Given the description of an element on the screen output the (x, y) to click on. 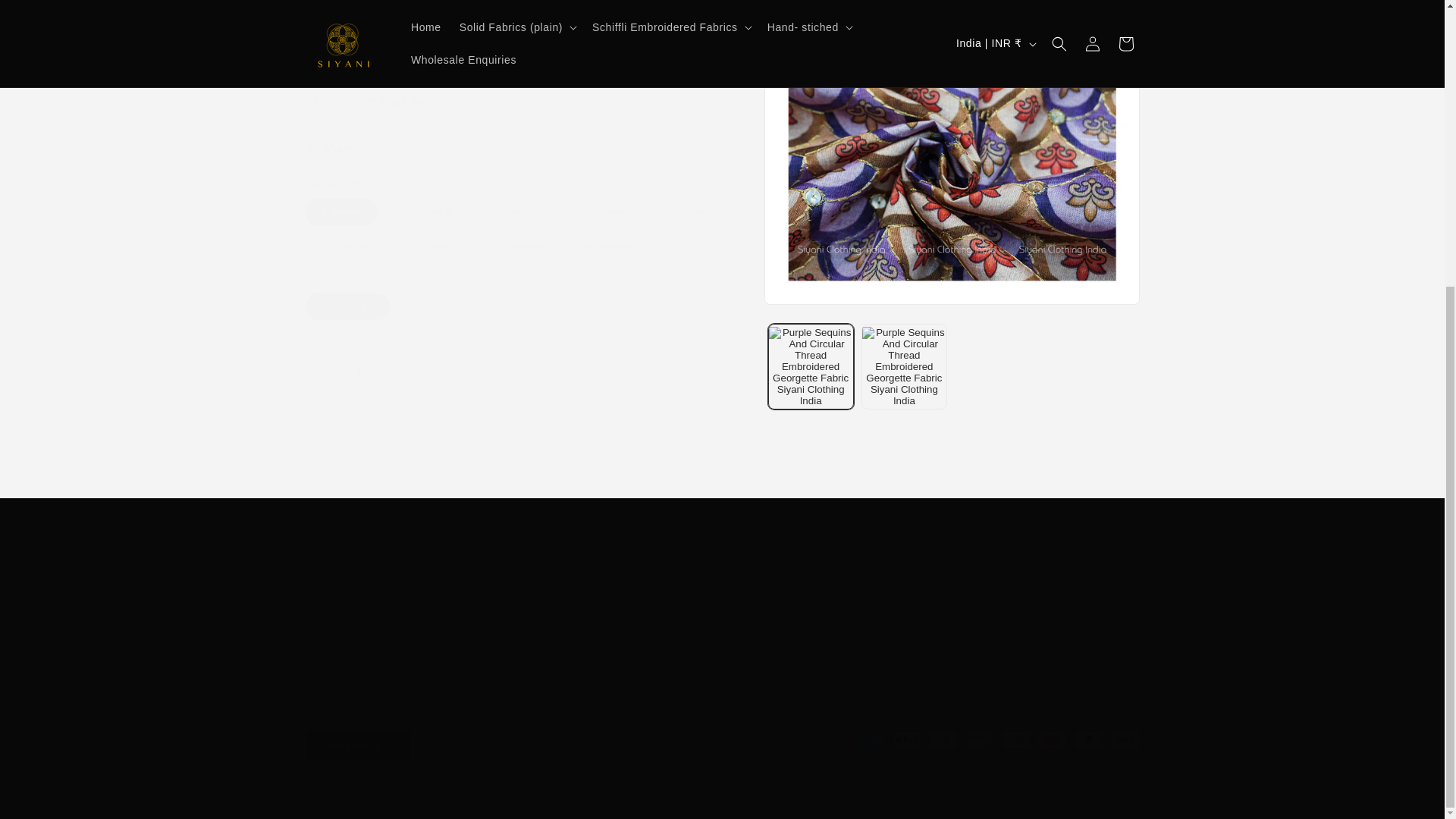
1 (358, 350)
